Given the description of an element on the screen output the (x, y) to click on. 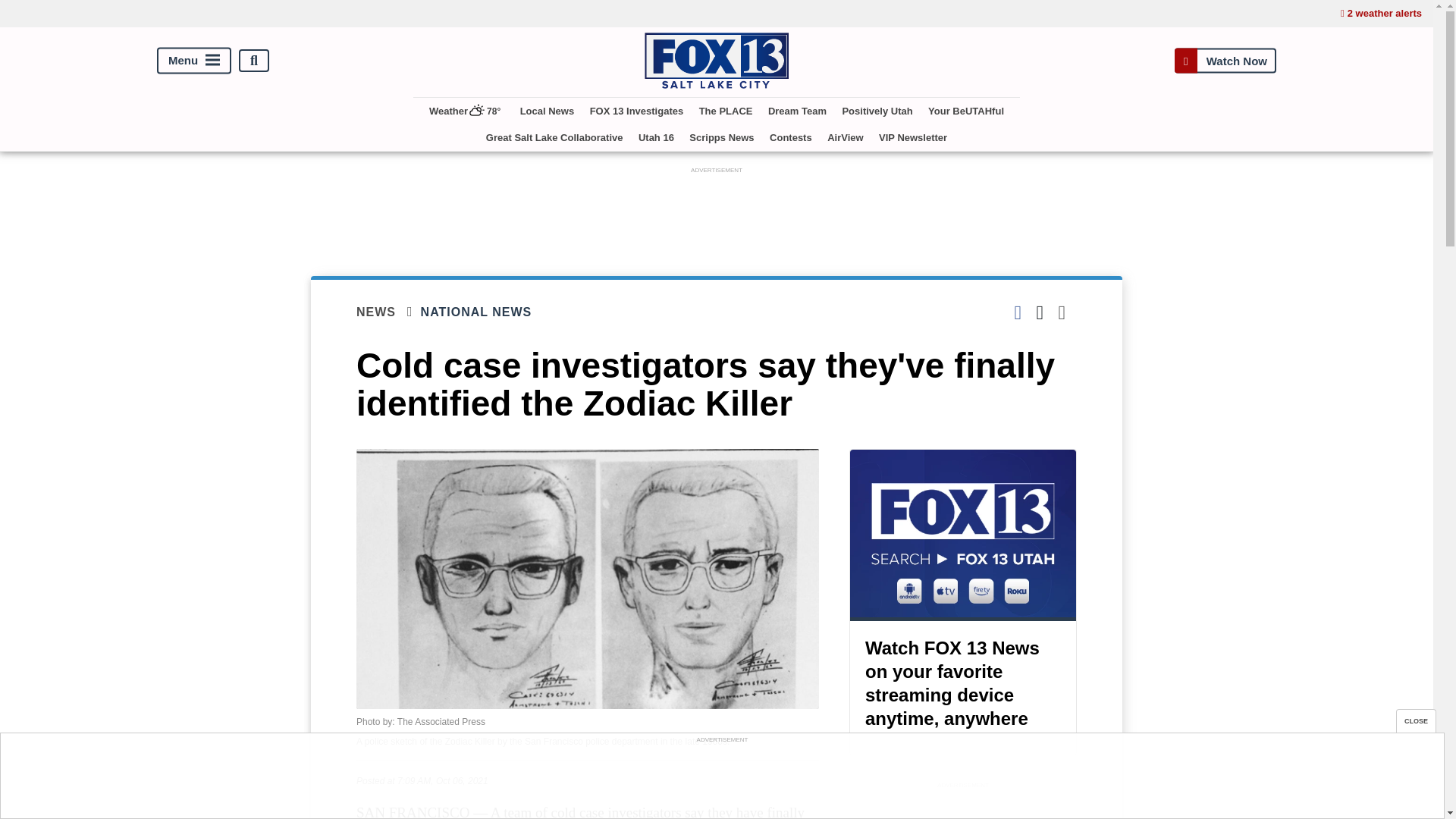
3rd party ad content (721, 780)
Watch Now (1224, 60)
3rd party ad content (962, 805)
Menu (194, 60)
3rd party ad content (716, 211)
